Given the description of an element on the screen output the (x, y) to click on. 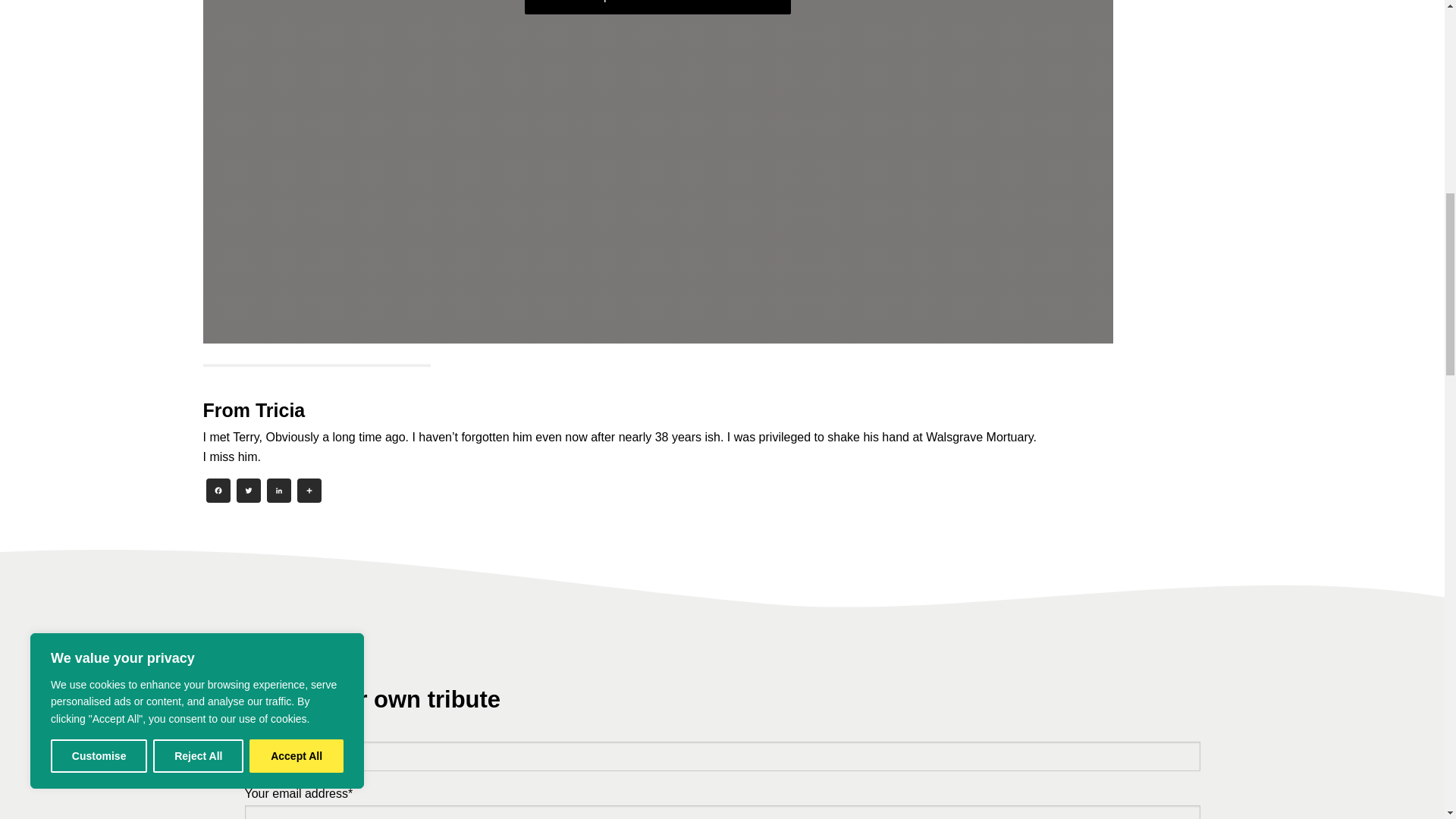
LinkedIn (278, 492)
Twitter (247, 492)
Facebook (217, 492)
